Given the description of an element on the screen output the (x, y) to click on. 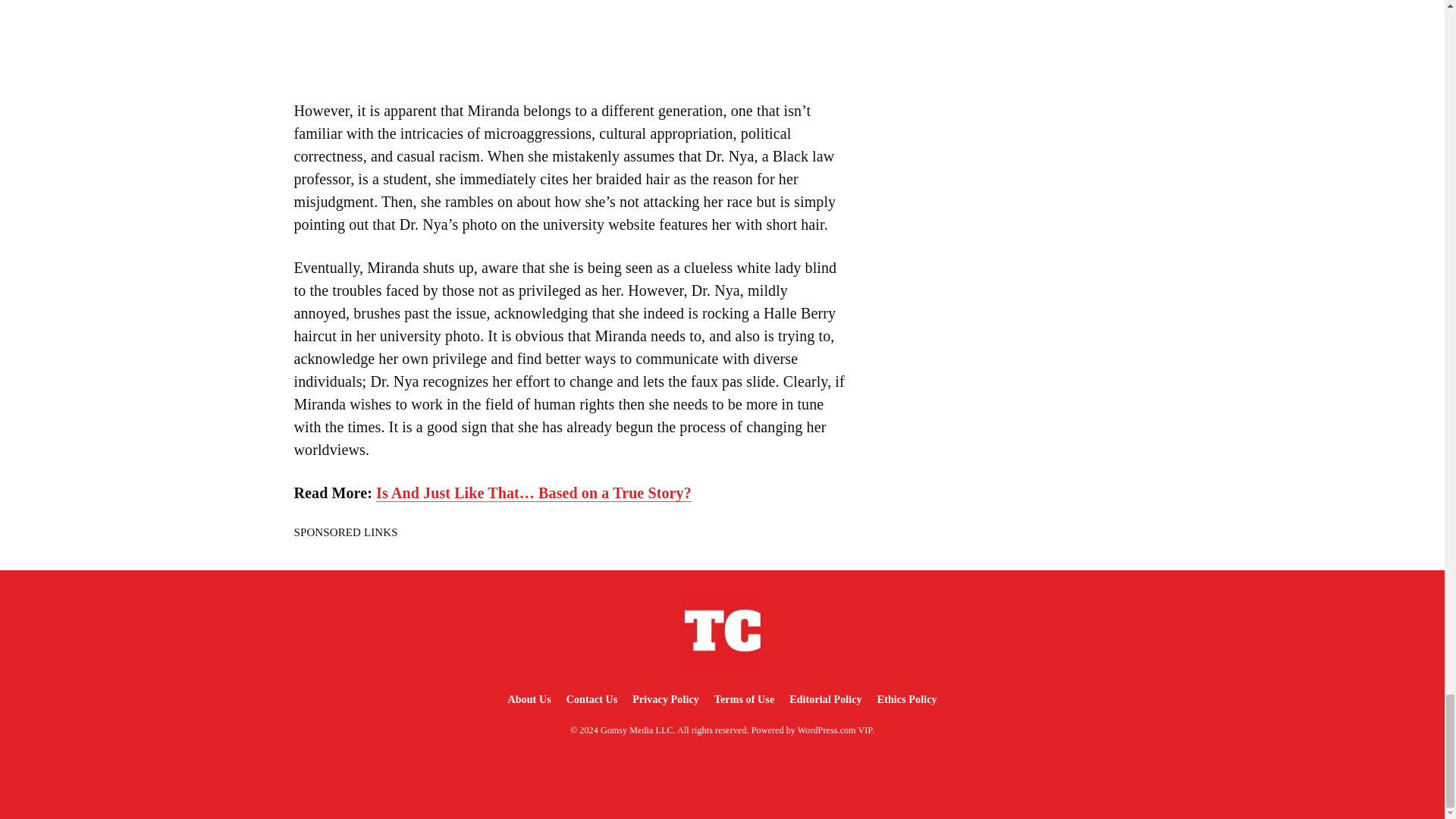
WordPress.com VIP (834, 729)
Editorial Policy (825, 699)
Ethics Policy (906, 699)
About Us (528, 699)
Contact Us (592, 699)
Privacy Policy (665, 699)
Terms of Use (743, 699)
